Given the description of an element on the screen output the (x, y) to click on. 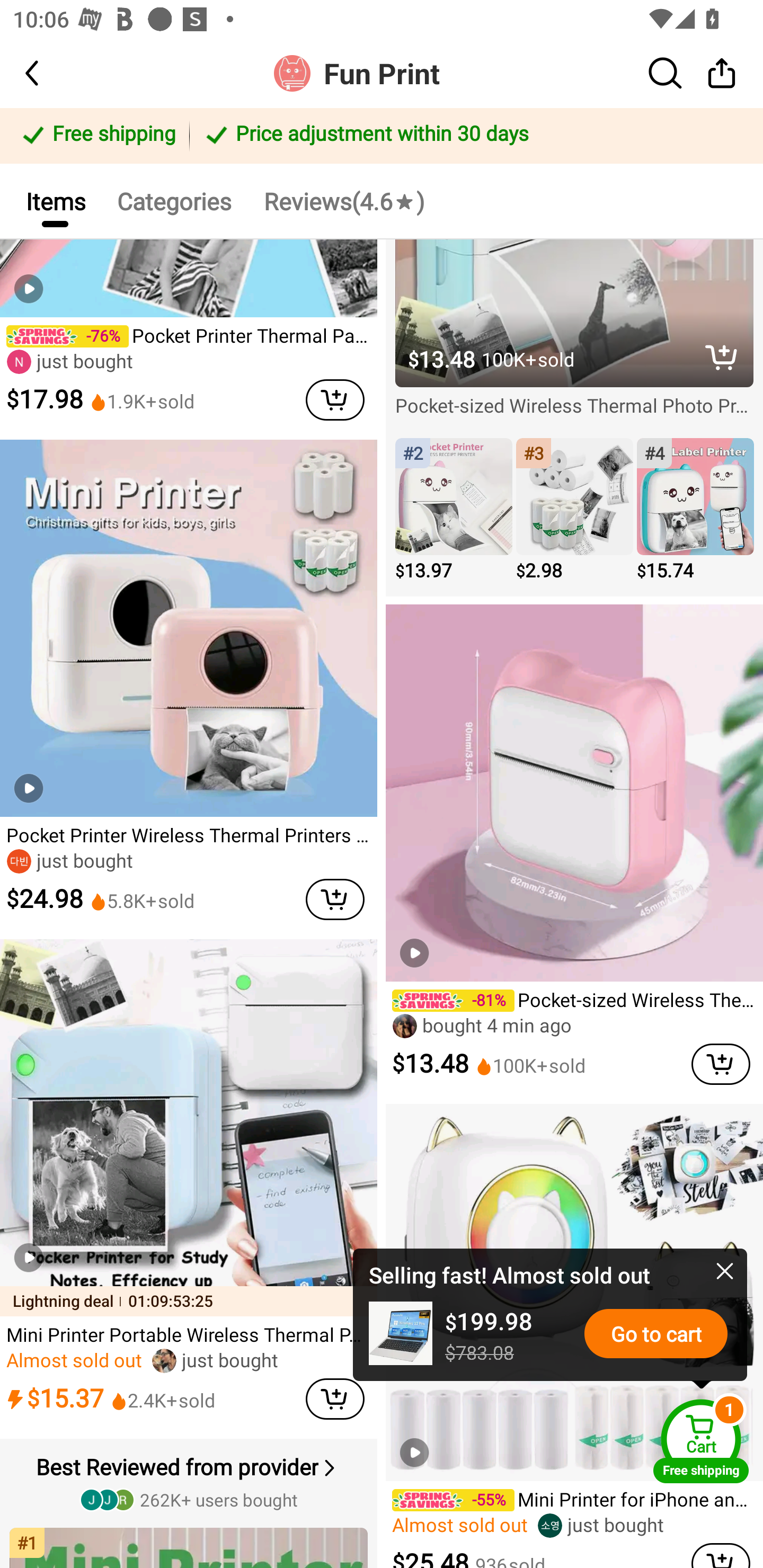
back (47, 72)
share (721, 72)
Free shipping (97, 135)
Price adjustment within 30 days (472, 135)
Items (55, 200)
Categories (174, 200)
Reviews(4.6 ) (343, 200)
delete (721, 357)
cart delete (334, 399)
#2 $13.97 (453, 510)
#3 $2.98 (574, 510)
#4 $15.74 (695, 510)
cart delete (334, 899)
cart delete (720, 1064)
Go to cart (655, 1333)
cart delete (334, 1398)
Cart Free shipping Cart (701, 1440)
Best Reviewed from provider 262K+ users bought (190, 1481)
cart delete (720, 1555)
